Given the description of an element on the screen output the (x, y) to click on. 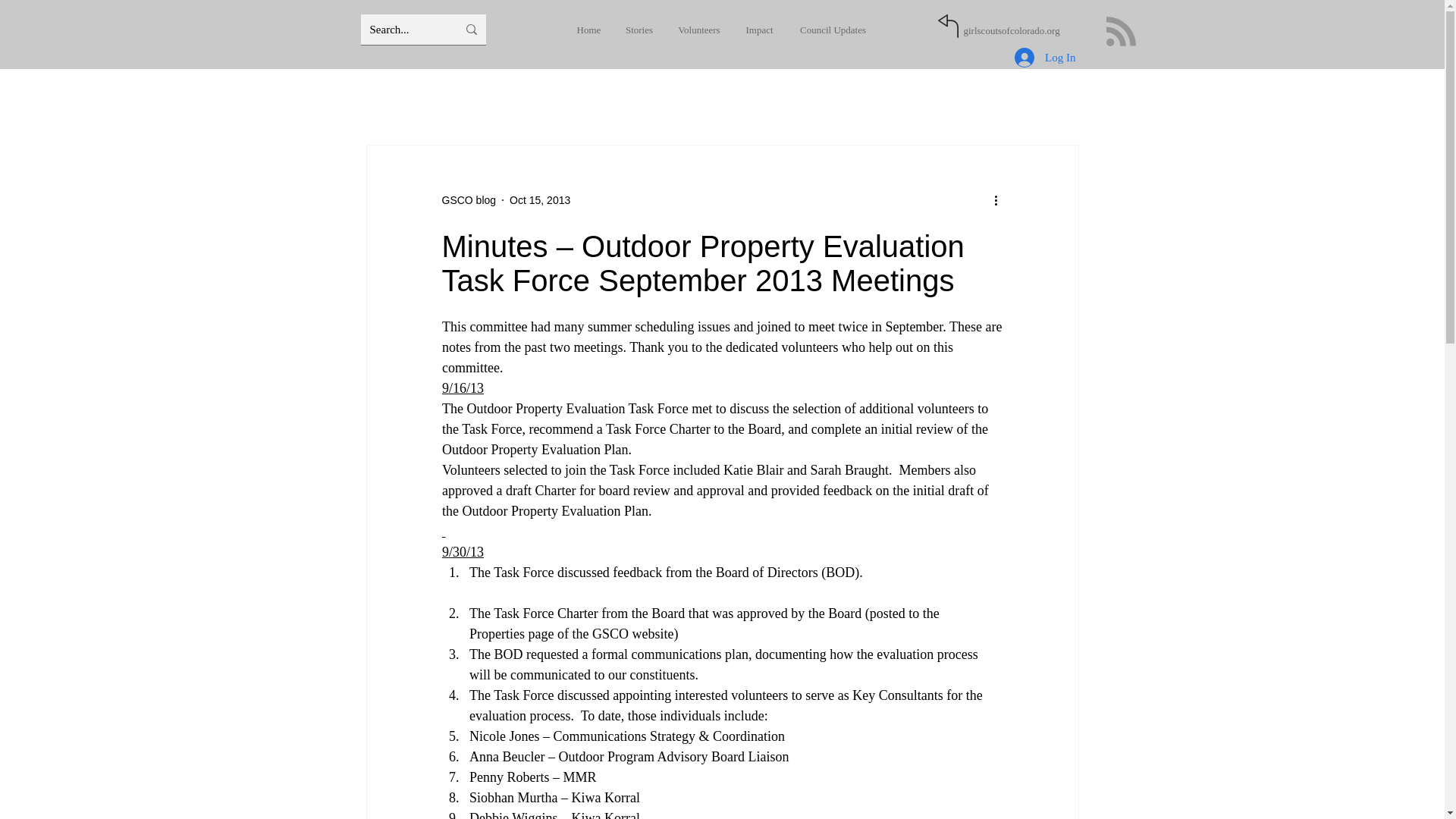
Stories (638, 29)
girlscoutsofcolorado.org (1010, 30)
Log In (1045, 57)
Volunteers (699, 29)
Council Updates (832, 29)
Home (588, 29)
Oct 15, 2013 (539, 200)
GSCO blog (468, 200)
Impact (759, 29)
GSCO blog (468, 200)
